Given the description of an element on the screen output the (x, y) to click on. 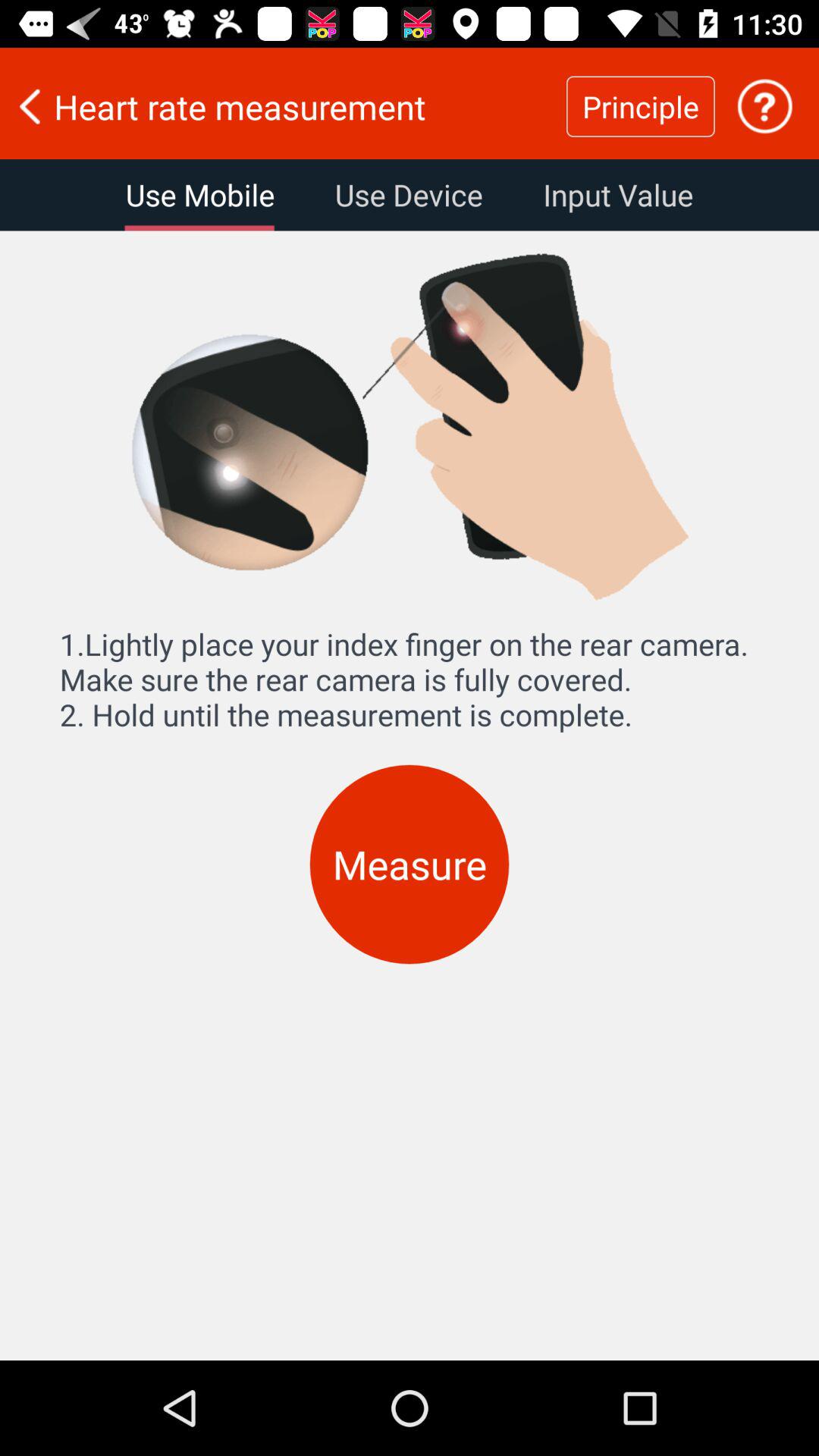
press icon above input value (764, 106)
